Given the description of an element on the screen output the (x, y) to click on. 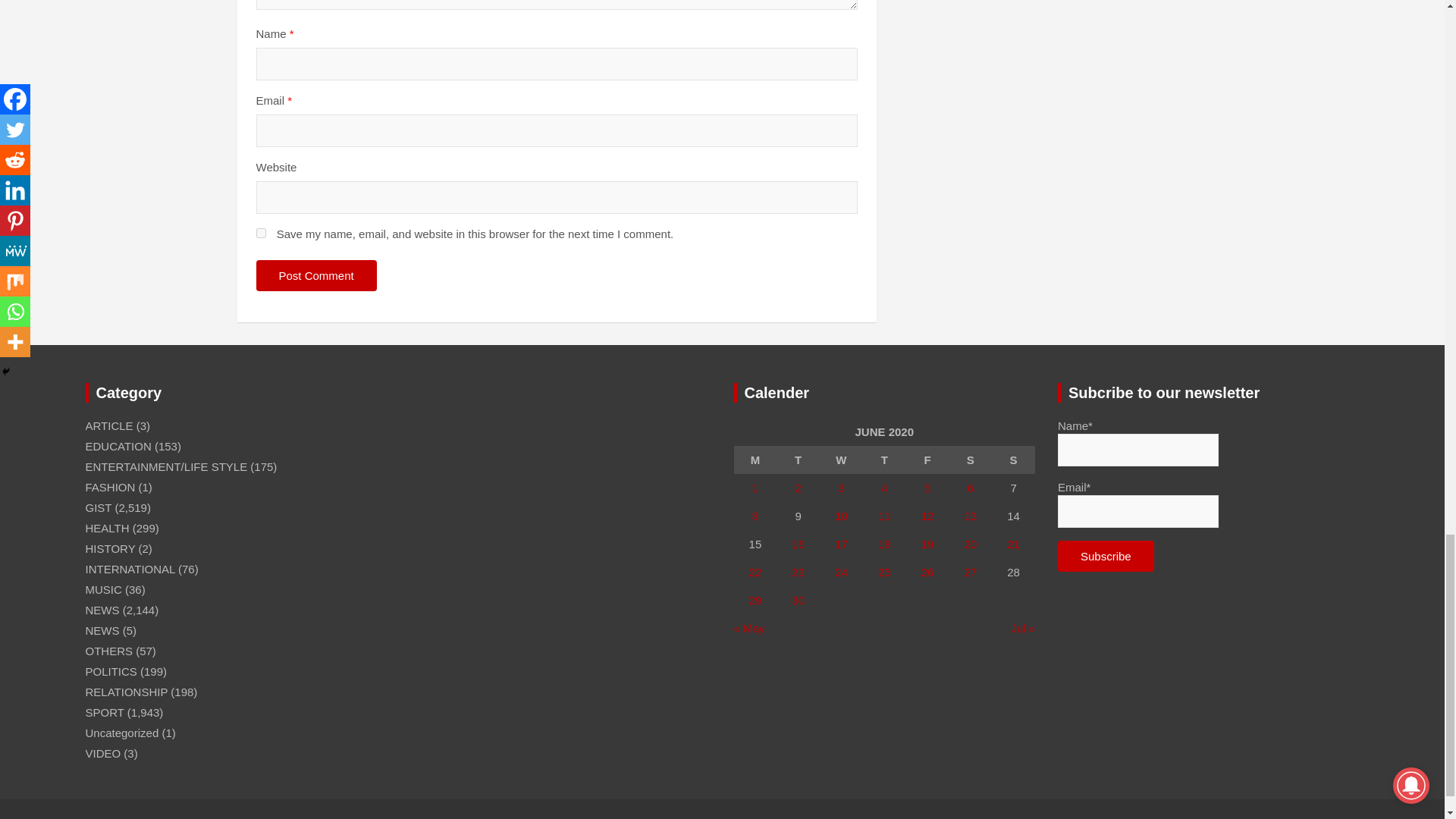
Subscribe (1106, 555)
yes (261, 233)
Post Comment (316, 275)
